Given the description of an element on the screen output the (x, y) to click on. 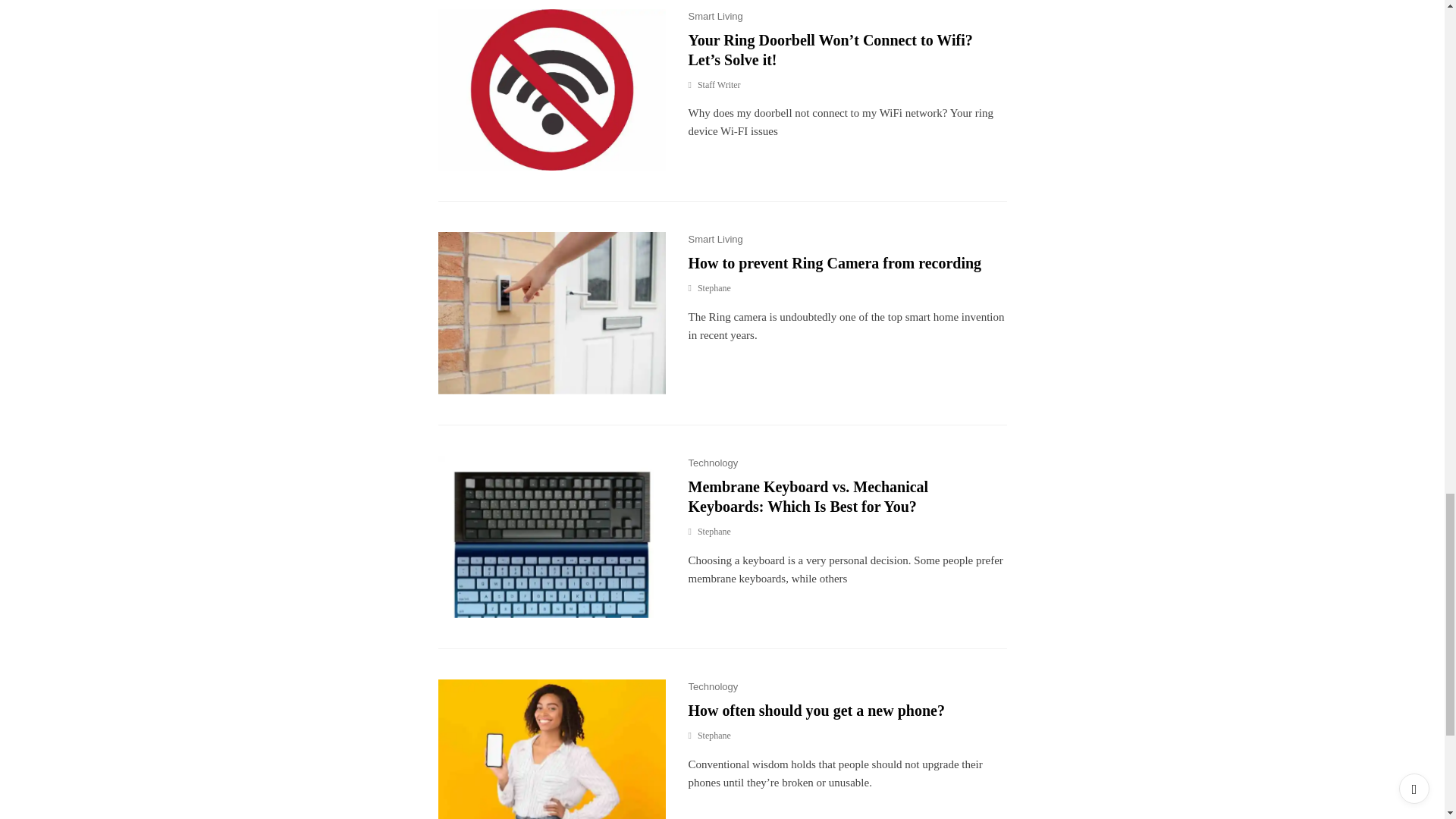
membranekeyboard (551, 536)
ring doorbell (551, 312)
1 1 (551, 749)
2 (551, 90)
